Given the description of an element on the screen output the (x, y) to click on. 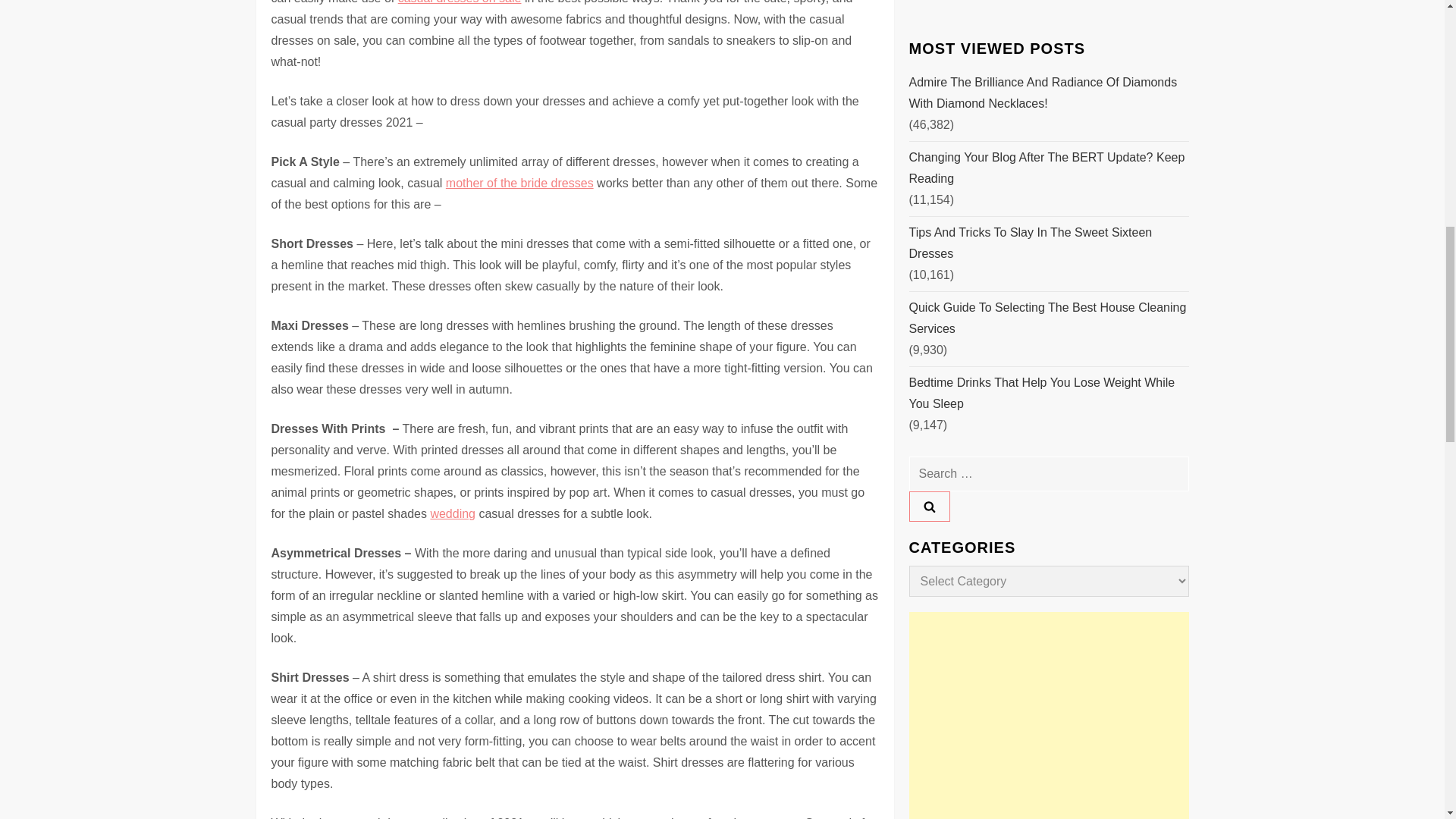
wedding (452, 513)
mother of the bride dresses (519, 182)
casual dresses on sale (459, 2)
Advertisement (1048, 133)
Visit BlogAdda.com to discover Indian blogs (938, 264)
